Given the description of an element on the screen output the (x, y) to click on. 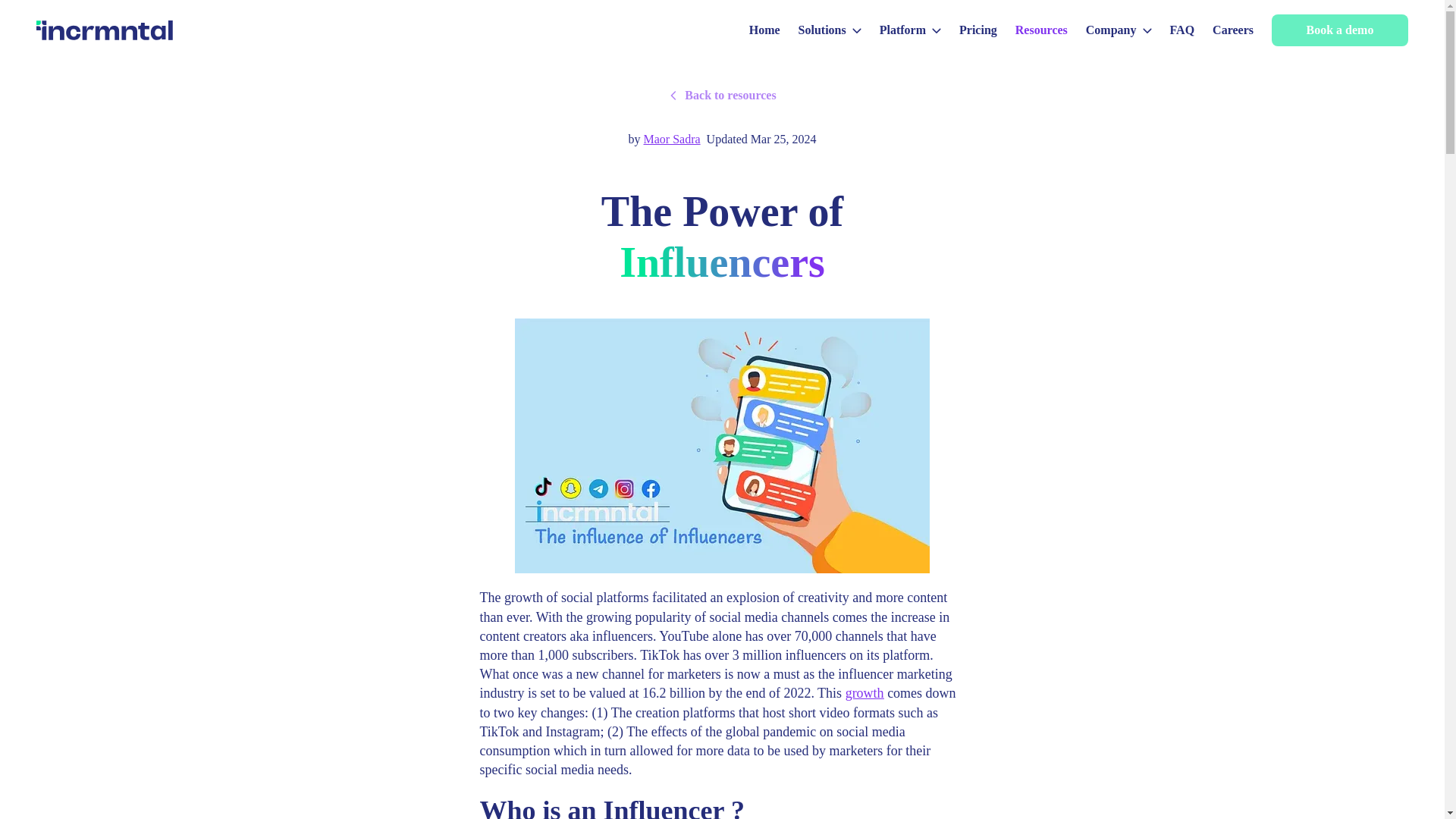
Home (764, 30)
Resources (1040, 30)
Pricing (978, 30)
Platform (909, 30)
Solutions (829, 30)
Company (1118, 30)
Book a demo (1339, 29)
Careers (1232, 30)
FAQ (1181, 30)
